Given the description of an element on the screen output the (x, y) to click on. 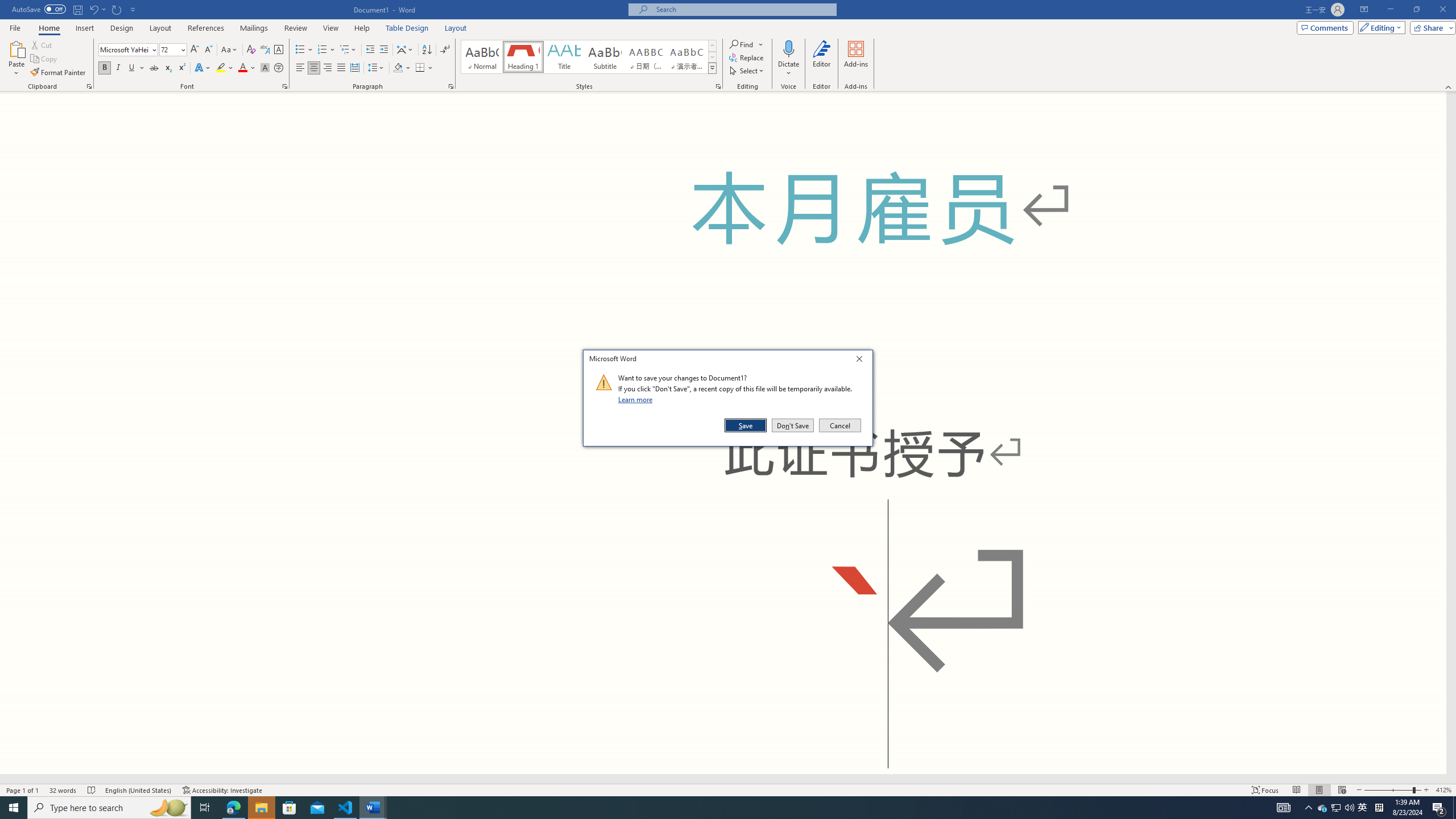
Repeat Doc Close (117, 9)
Cancel (839, 425)
